Given the description of an element on the screen output the (x, y) to click on. 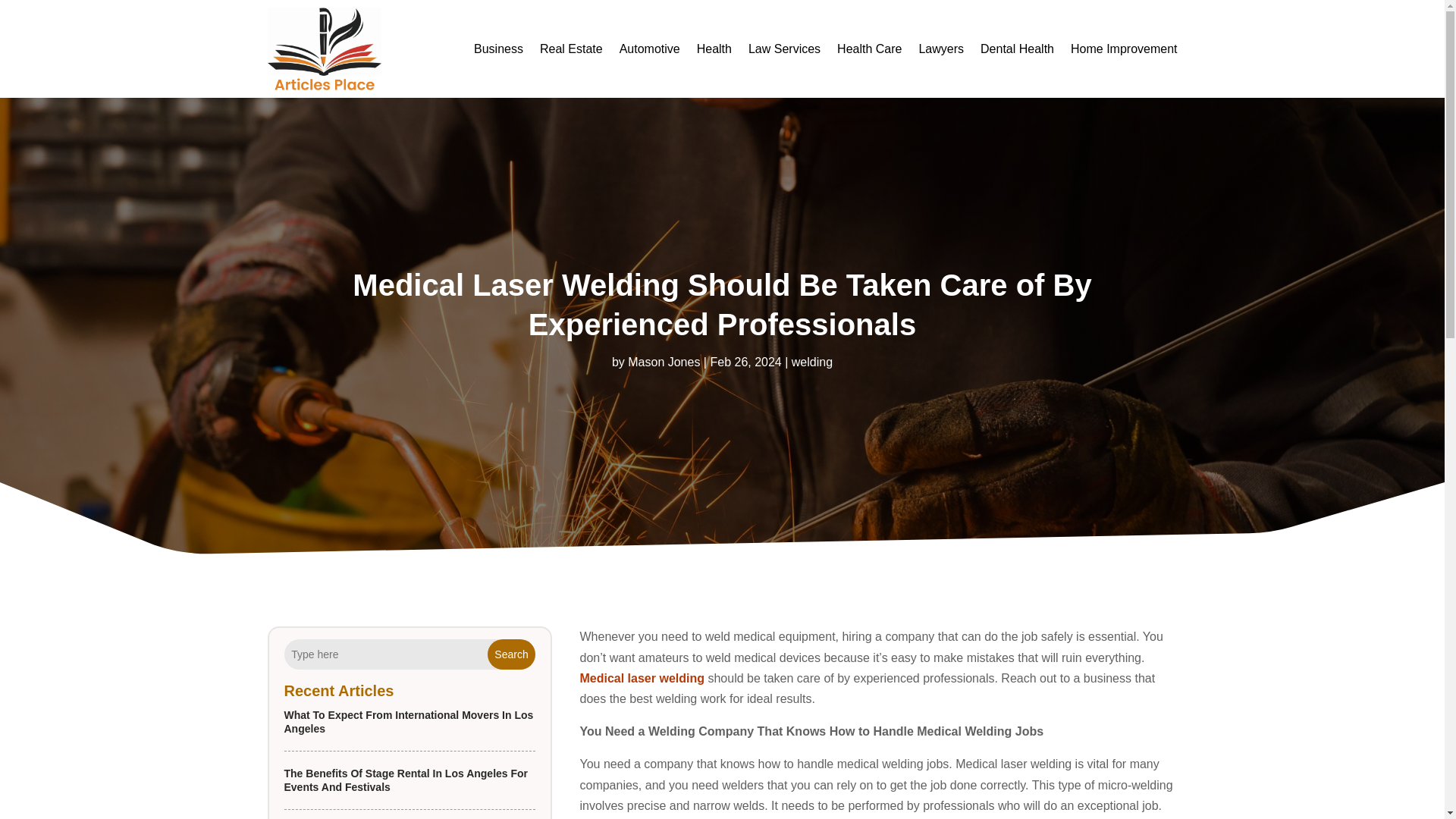
Search (511, 654)
Home Improvement (1123, 48)
welding (812, 361)
Dental Health (1016, 48)
Posts by Mason Jones (663, 361)
What To Expect From International Movers In Los Angeles (407, 721)
Mason Jones (663, 361)
